Given the description of an element on the screen output the (x, y) to click on. 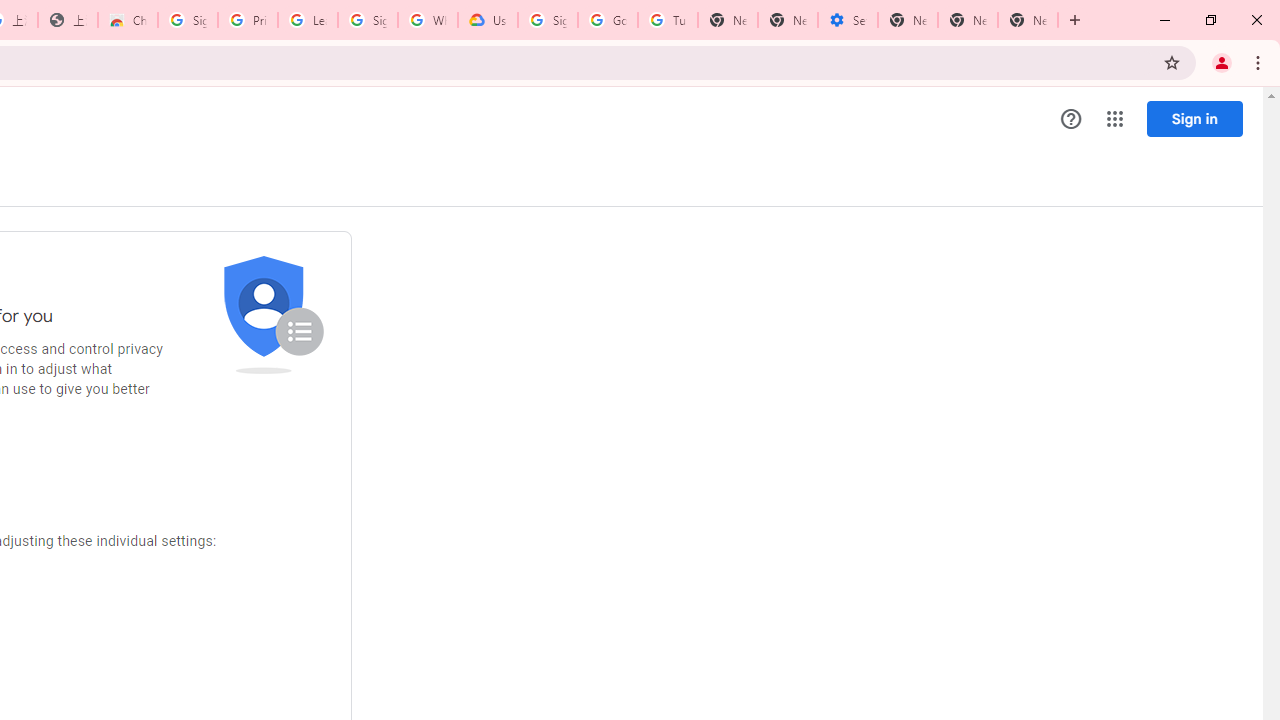
Help (1071, 119)
Settings - Addresses and more (847, 20)
Sign in - Google Accounts (367, 20)
Google apps (1114, 118)
Sign in - Google Accounts (187, 20)
New Tab (1028, 20)
